Given the description of an element on the screen output the (x, y) to click on. 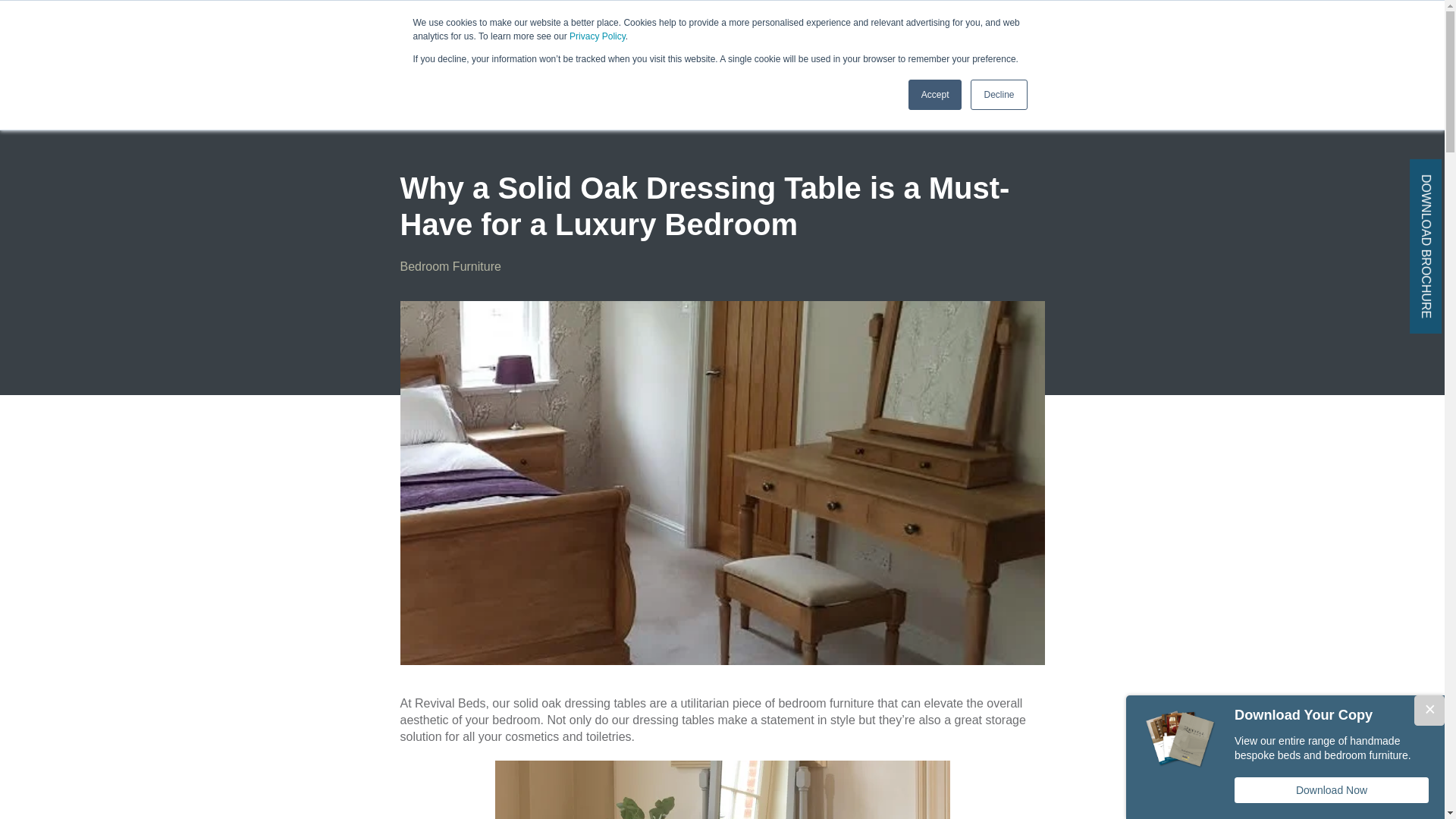
Free Brochure (398, 103)
Privacy Policy (597, 36)
Accept (935, 94)
Decline (998, 94)
WOODEN BEDS (469, 43)
